Given the description of an element on the screen output the (x, y) to click on. 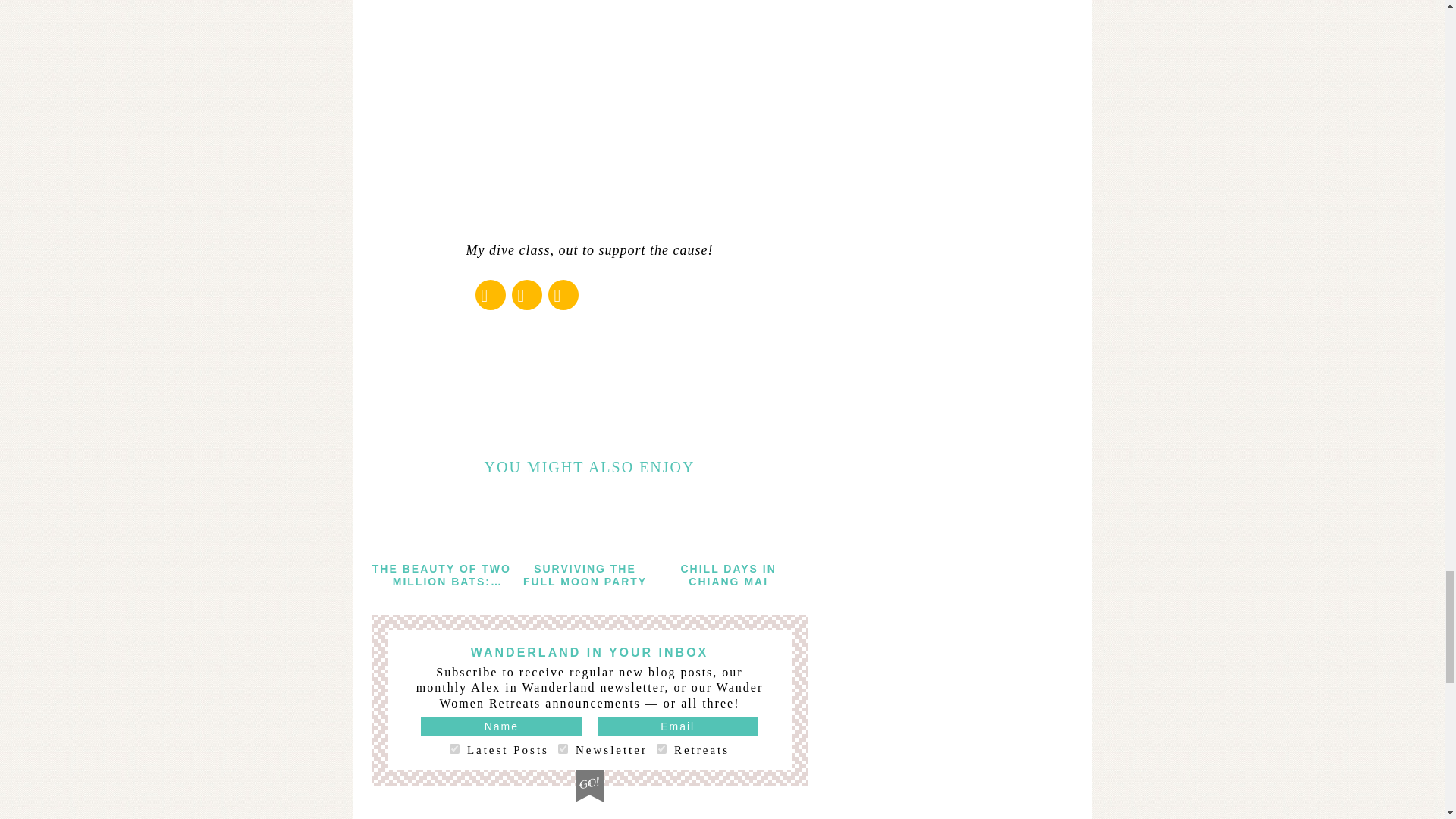
2949cac007 (661, 748)
aeb4760d62 (454, 748)
Facebook (489, 294)
read more (441, 525)
read more (585, 525)
read more (728, 525)
c71dc0b433 (562, 748)
Pinterest (562, 294)
